Given the description of an element on the screen output the (x, y) to click on. 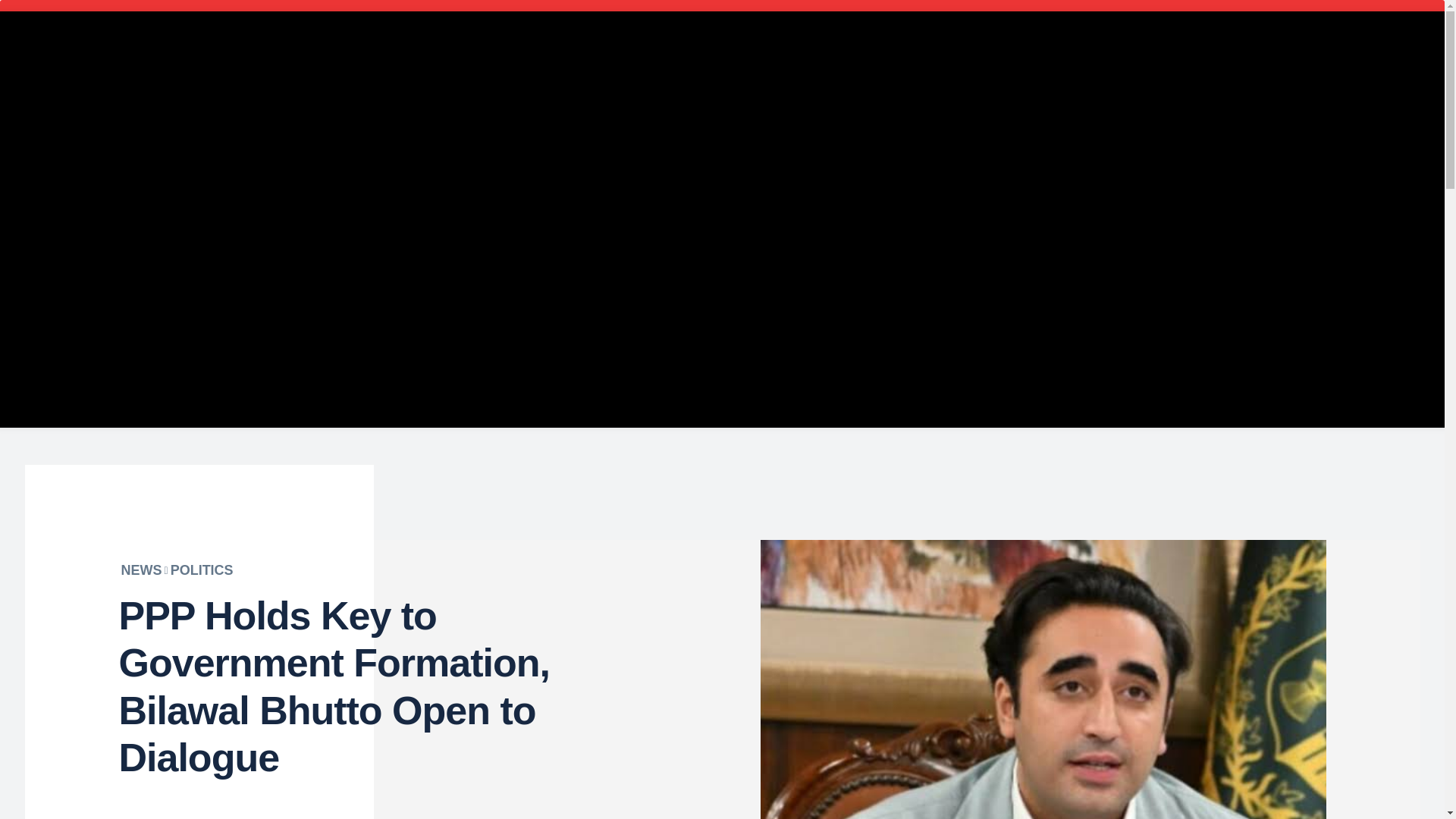
Headline PK (724, 55)
World (1053, 254)
Business (455, 254)
SEARCH (339, 56)
URDU (1208, 74)
Sports (937, 254)
Politics (867, 254)
POLITICS (201, 570)
Entertainment (554, 254)
URDU (1208, 74)
News (640, 254)
Headline PK (724, 55)
Tech (997, 254)
Urdu (387, 254)
NEWS (140, 570)
